Given the description of an element on the screen output the (x, y) to click on. 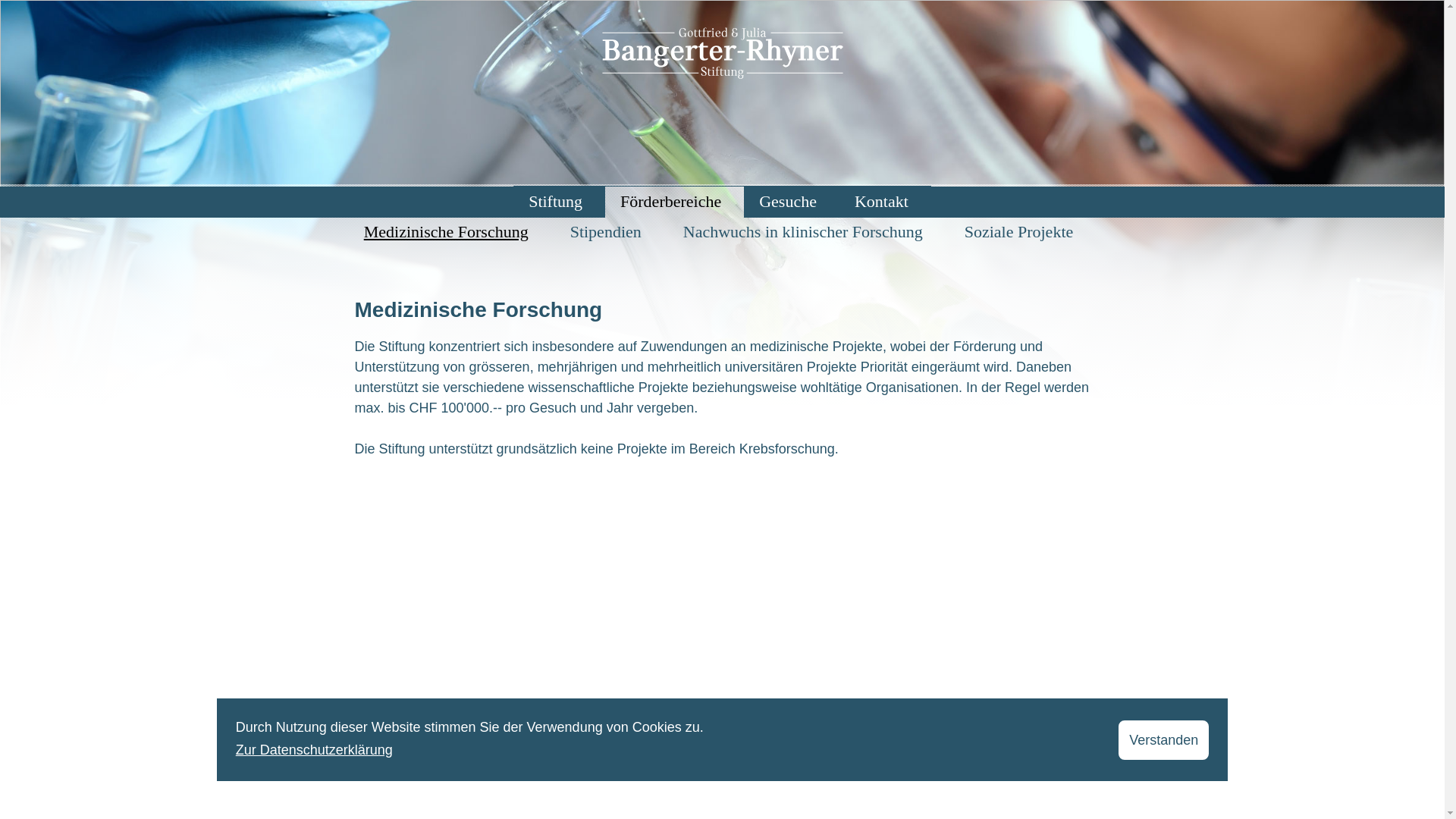
Kontakt Element type: text (881, 200)
Medizinische Forschung Element type: text (446, 231)
Nachwuchs in klinischer Forschung Element type: text (802, 231)
Stipendien Element type: text (605, 231)
info@bangerter-stiftung.ch Element type: text (781, 770)
+41 61 277 01 22 Element type: text (651, 770)
Verstanden Element type: text (1163, 739)
Stiftung Element type: text (555, 200)
Gesuche Element type: text (787, 200)
Soziale Projekte Element type: text (1018, 231)
